Given the description of an element on the screen output the (x, y) to click on. 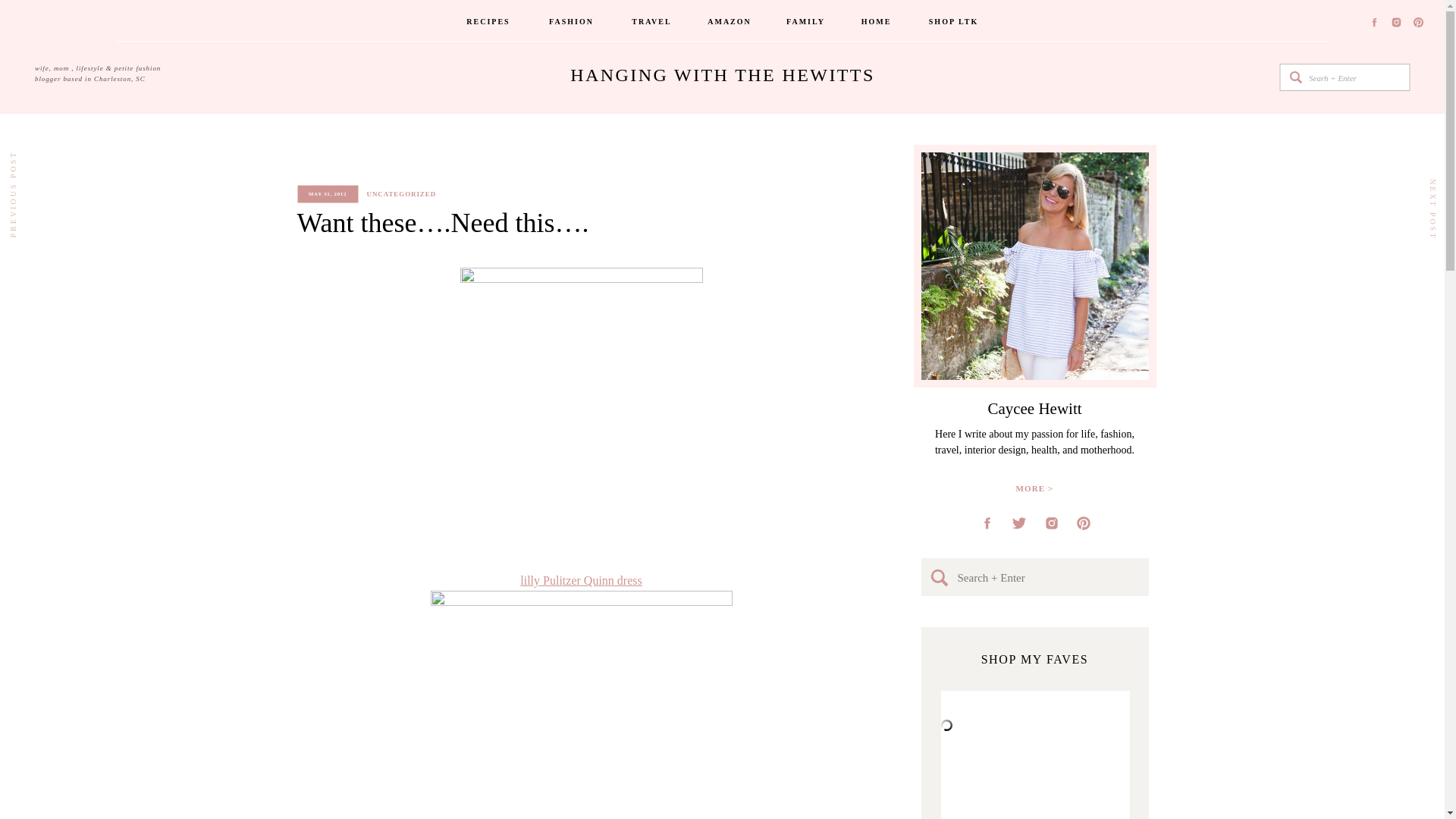
AMAZON (729, 23)
UNCATEGORIZED (401, 194)
TRAVEL (650, 23)
FASHION (571, 23)
HANGING WITH THE HEWITTS (722, 76)
FAMILY (806, 23)
RECIPES (488, 23)
HOME (876, 23)
SHOP LTK (953, 23)
lilly Pulitzer Quinn dress (580, 580)
